Given the description of an element on the screen output the (x, y) to click on. 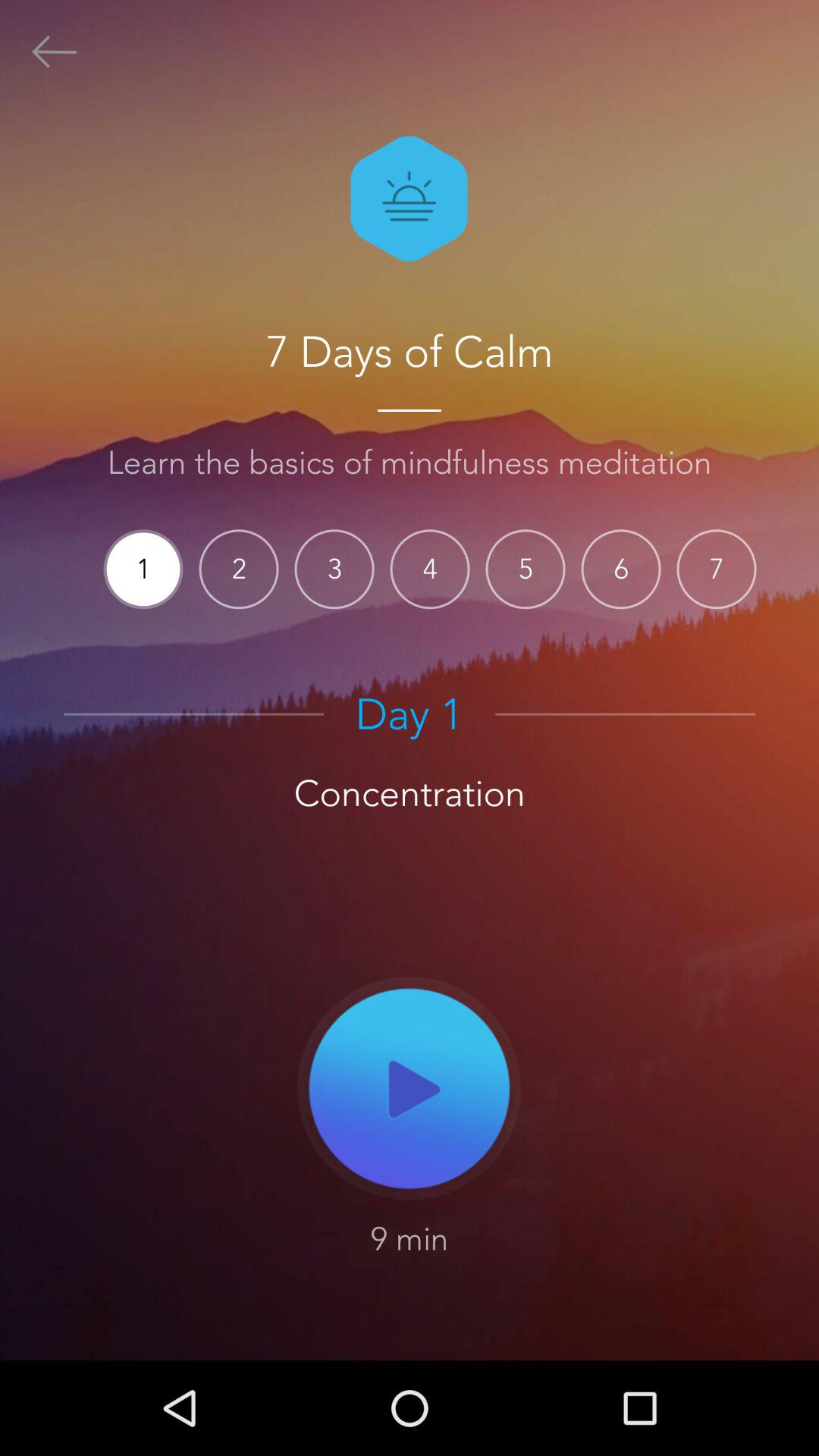
select icon above the 9 min icon (409, 1087)
